Given the description of an element on the screen output the (x, y) to click on. 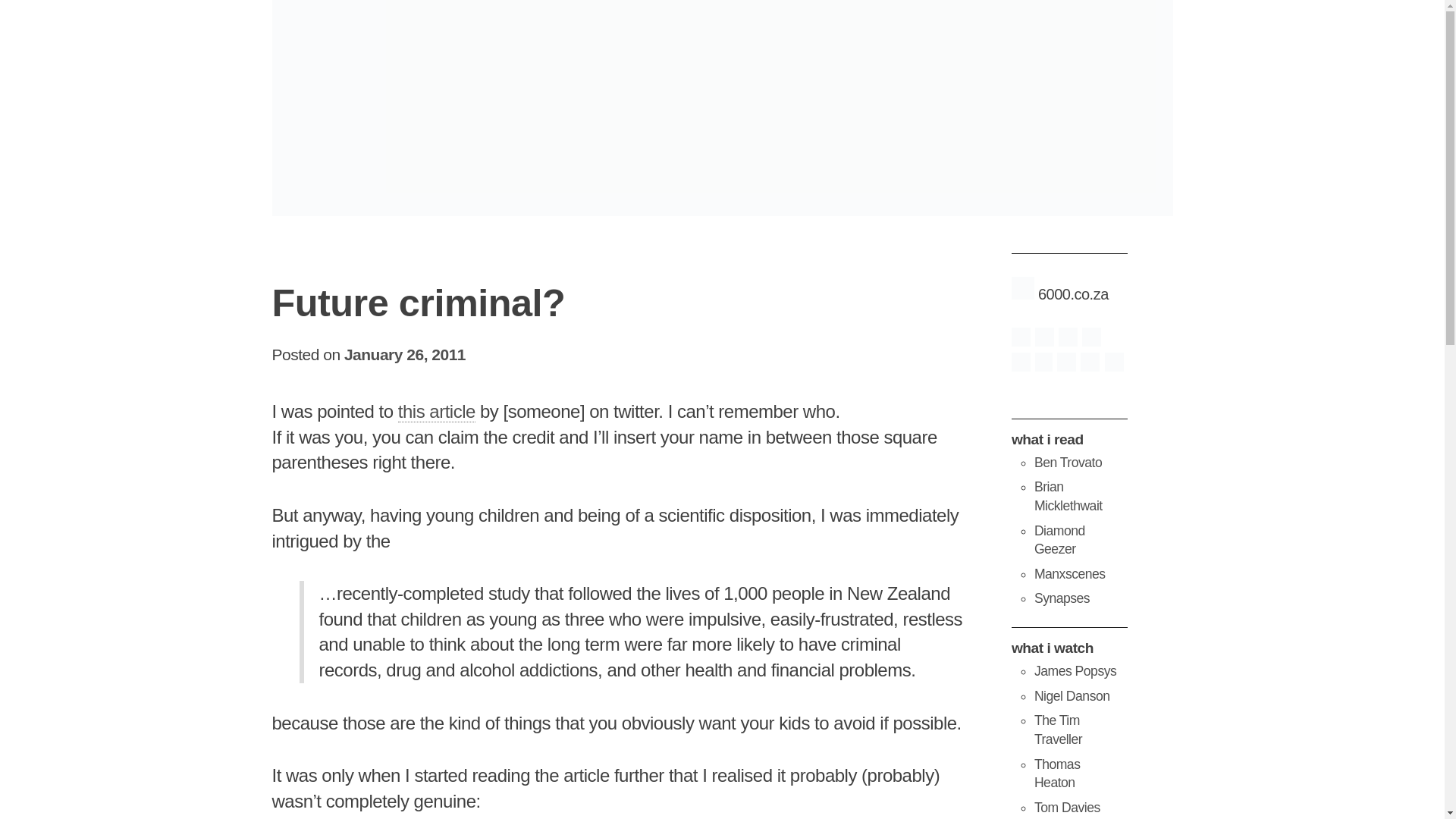
The Tim Traveller (1057, 729)
Link (436, 411)
Nigel Danson (1071, 695)
Photography advice from the UK (1074, 670)
jacques talks mostly sense (1061, 598)
Diamond Geezer (1058, 540)
Ben Trovato (1067, 462)
Synapses (1061, 598)
Eclectic mix of social commentary (1067, 496)
this article (436, 411)
January 26, 2011 (404, 354)
Manxscenes (1069, 573)
Brian Micklethwait (1067, 496)
Daily tales of London (1058, 540)
